Given the description of an element on the screen output the (x, y) to click on. 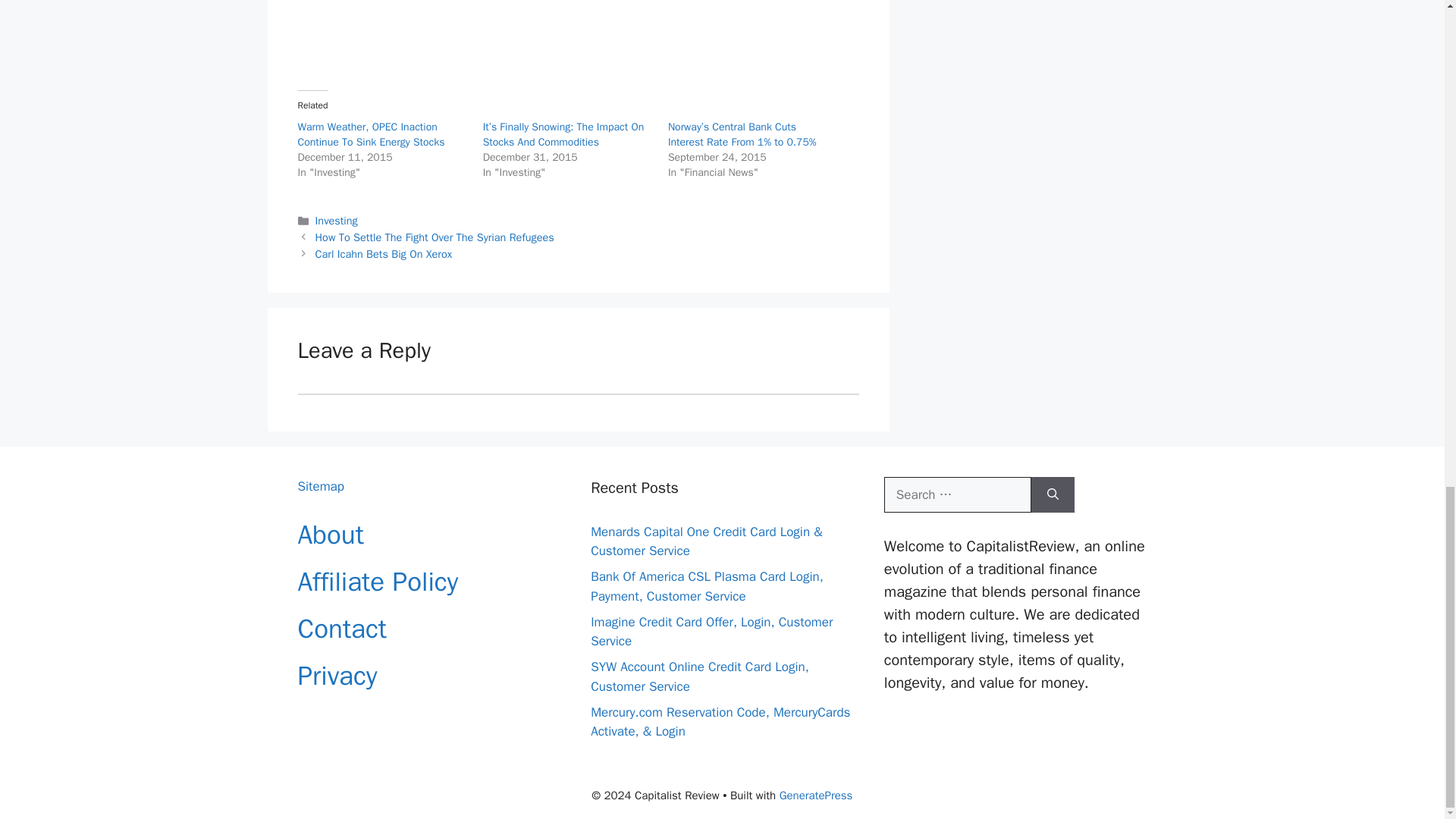
Warm Weather, OPEC Inaction Continue To Sink Energy Stocks (370, 134)
Contact (341, 628)
Like or Reblog (578, 43)
Affiliate Policy (377, 581)
SYW Account Online Credit Card Login, Customer Service (700, 676)
Sitemap (320, 486)
Carl Icahn Bets Big On Xerox (383, 254)
Imagine Credit Card Offer, Login, Customer Service (711, 632)
Warm Weather, OPEC Inaction Continue To Sink Energy Stocks (370, 134)
About (329, 534)
Search for: (956, 494)
How To Settle The Fight Over The Syrian Refugees (434, 237)
Investing (336, 220)
